Given the description of an element on the screen output the (x, y) to click on. 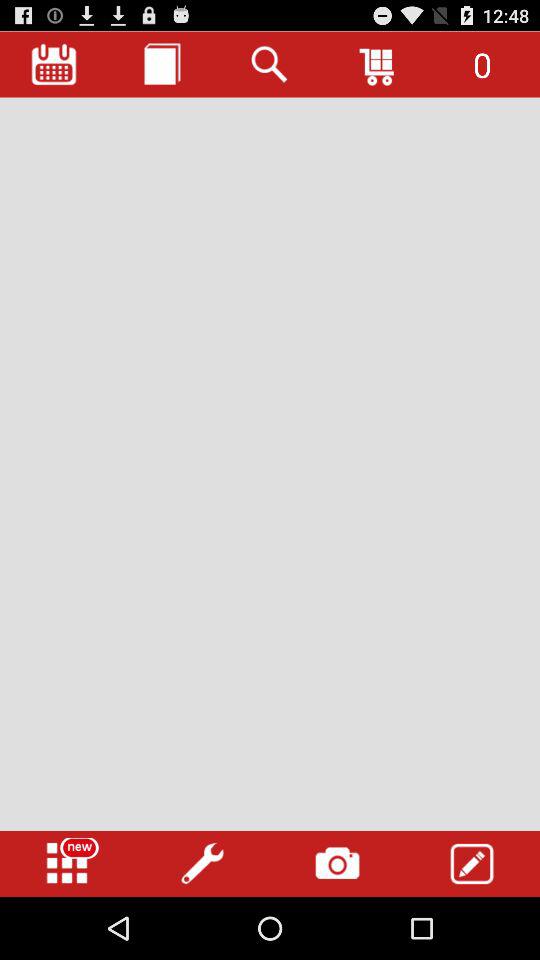
select pages (161, 64)
